Given the description of an element on the screen output the (x, y) to click on. 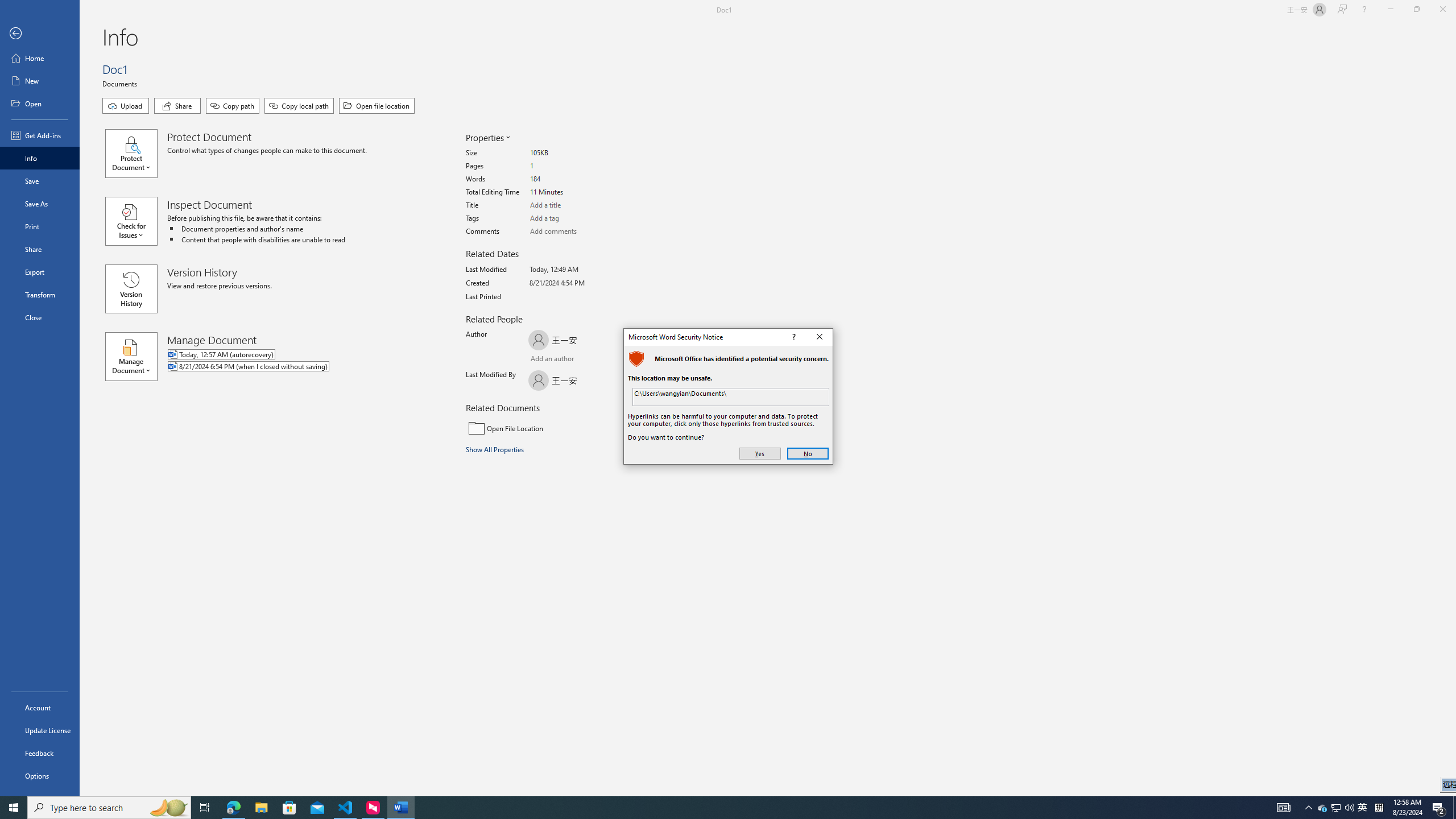
Properties (486, 137)
 8/21/2024 6:54 PM (when I closed without saving) (295, 367)
Check for Issues (135, 220)
Open (40, 102)
Total Editing Time (572, 192)
Show All Properties (495, 448)
Version History (130, 288)
Options (40, 775)
New (40, 80)
Pages (572, 166)
Microsoft Edge - 1 running window (233, 807)
Browse Address Book (595, 359)
Tray Input Indicator - Chinese (Simplified, China) (1378, 807)
